Given the description of an element on the screen output the (x, y) to click on. 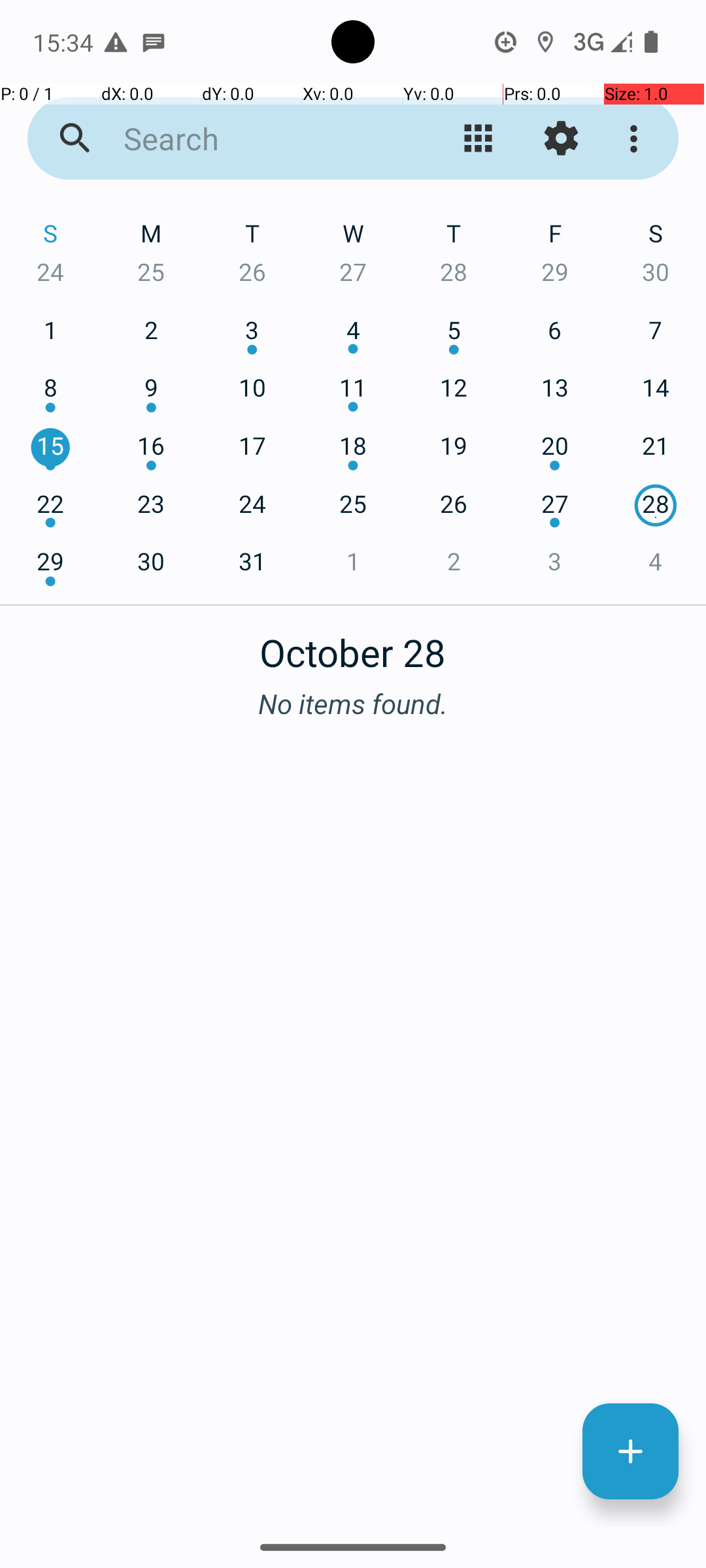
October 28 Element type: android.widget.TextView (352, 644)
